Given the description of an element on the screen output the (x, y) to click on. 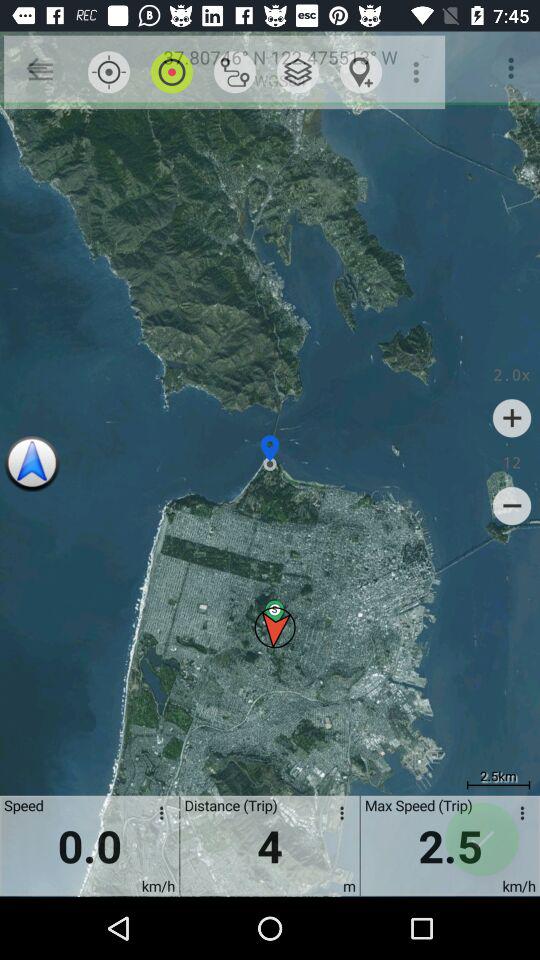
more option (519, 816)
